Given the description of an element on the screen output the (x, y) to click on. 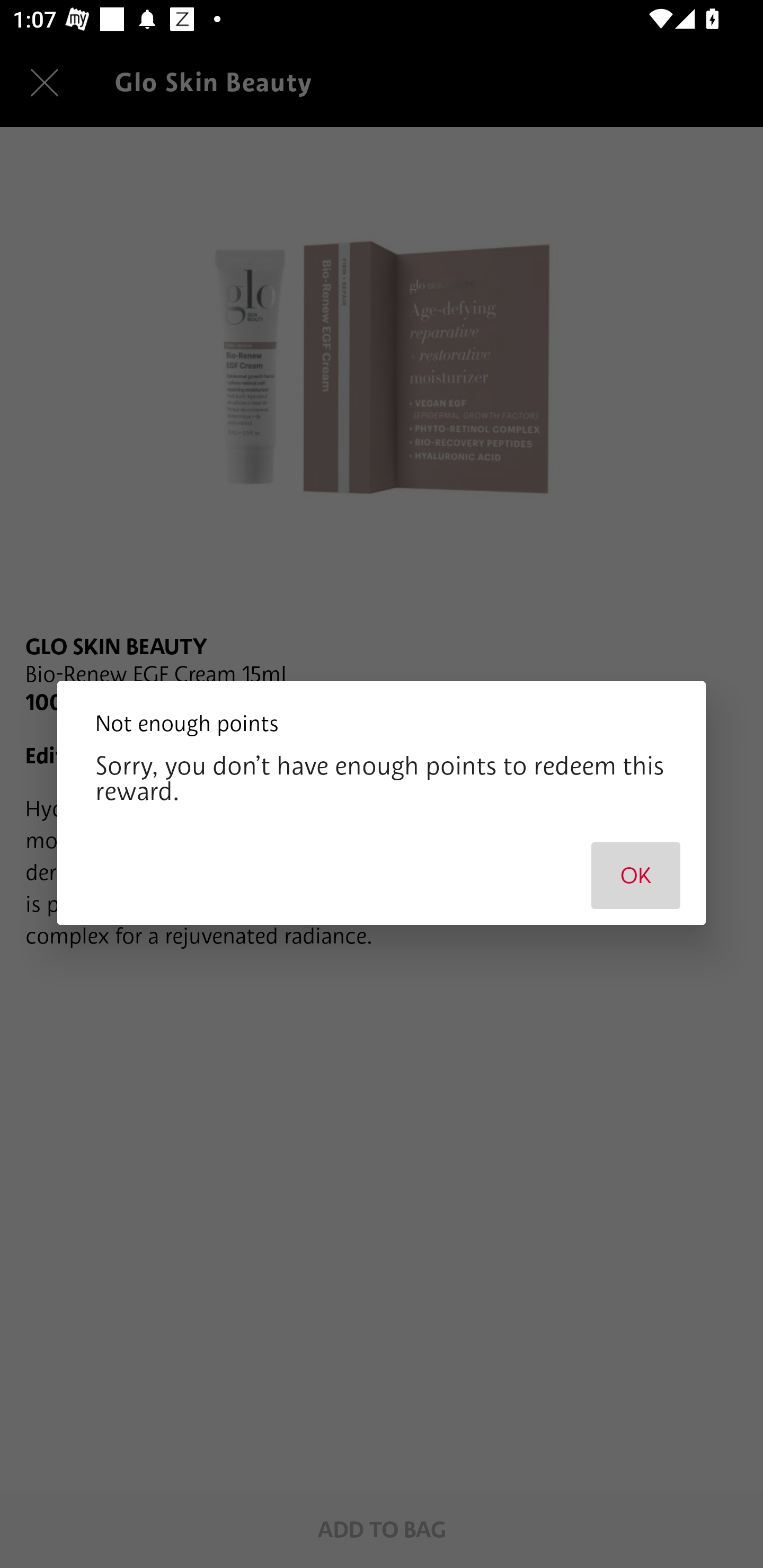
OK (635, 875)
